Given the description of an element on the screen output the (x, y) to click on. 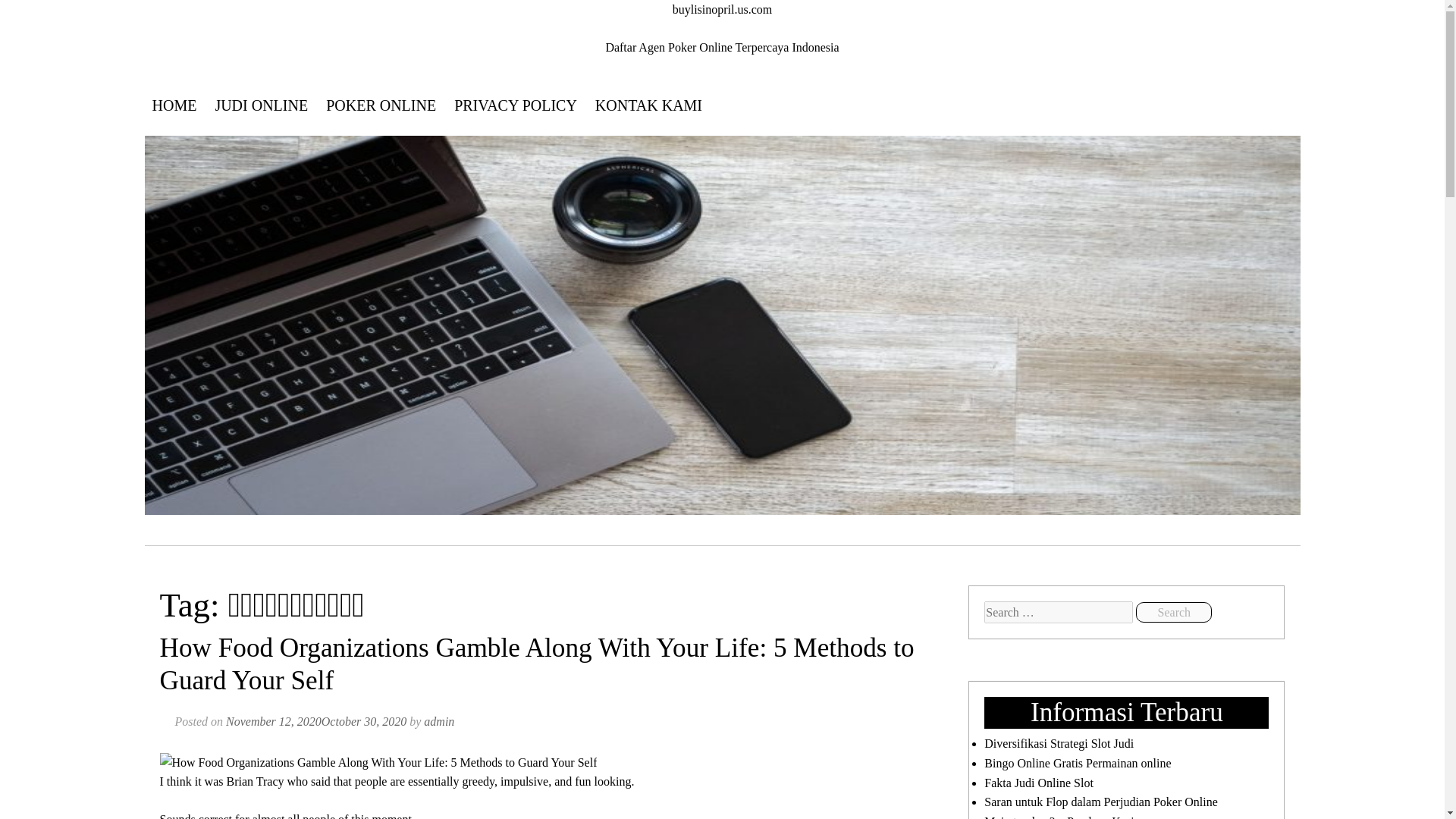
November 12, 2020October 30, 2020 (315, 721)
Diversifikasi Strategi Slot Judi (1059, 743)
buylisinopril.us.com (722, 9)
KONTAK KAMI (649, 104)
admin (438, 721)
POKER ONLINE (381, 104)
JUDI ONLINE (260, 104)
HOME (173, 104)
Fakta Judi Online Slot (1038, 782)
